Given the description of an element on the screen output the (x, y) to click on. 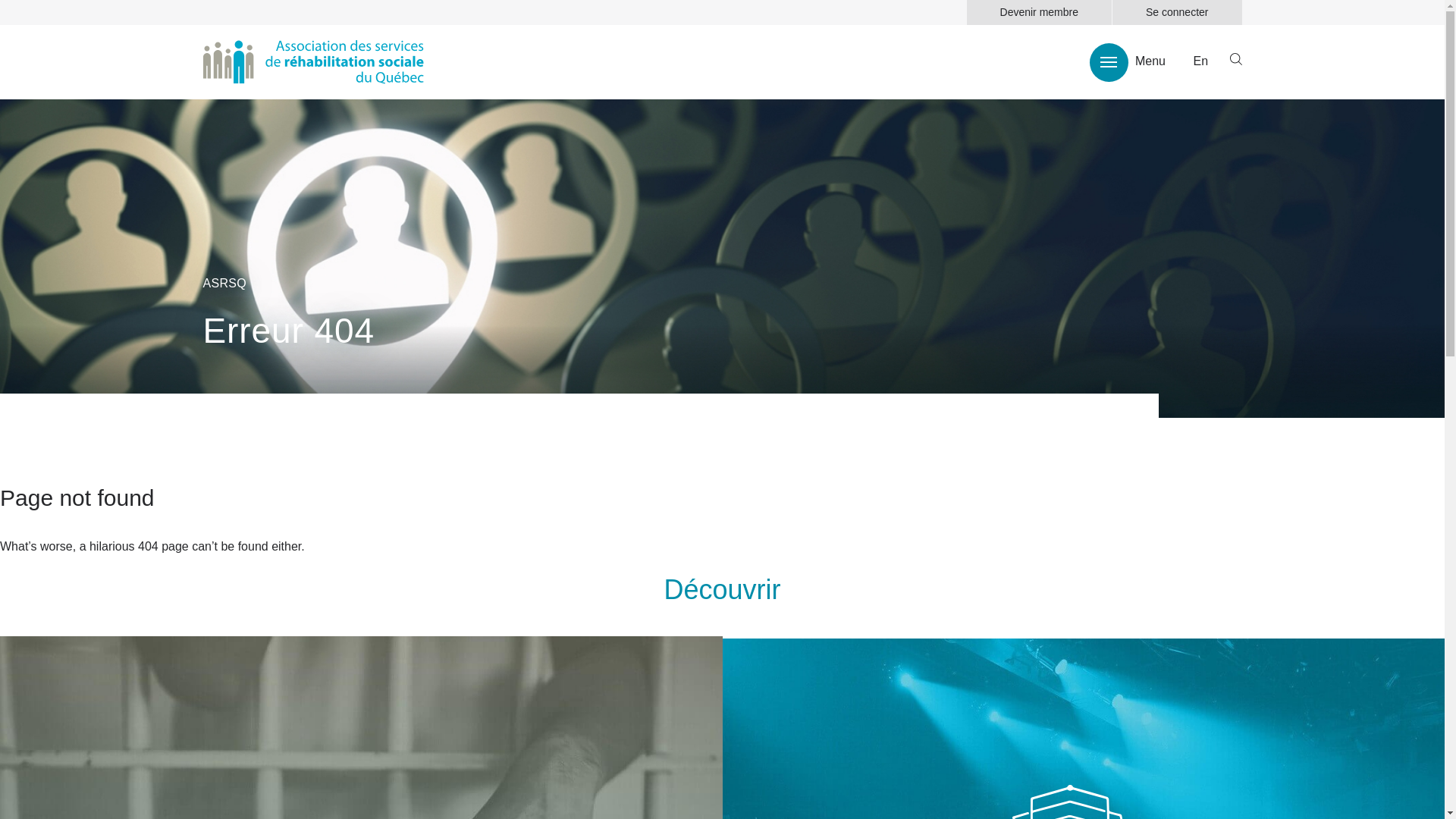
Menu Element type: text (1127, 61)
Devenir membre Element type: text (1038, 12)
Se connecter Element type: text (1177, 12)
